Given the description of an element on the screen output the (x, y) to click on. 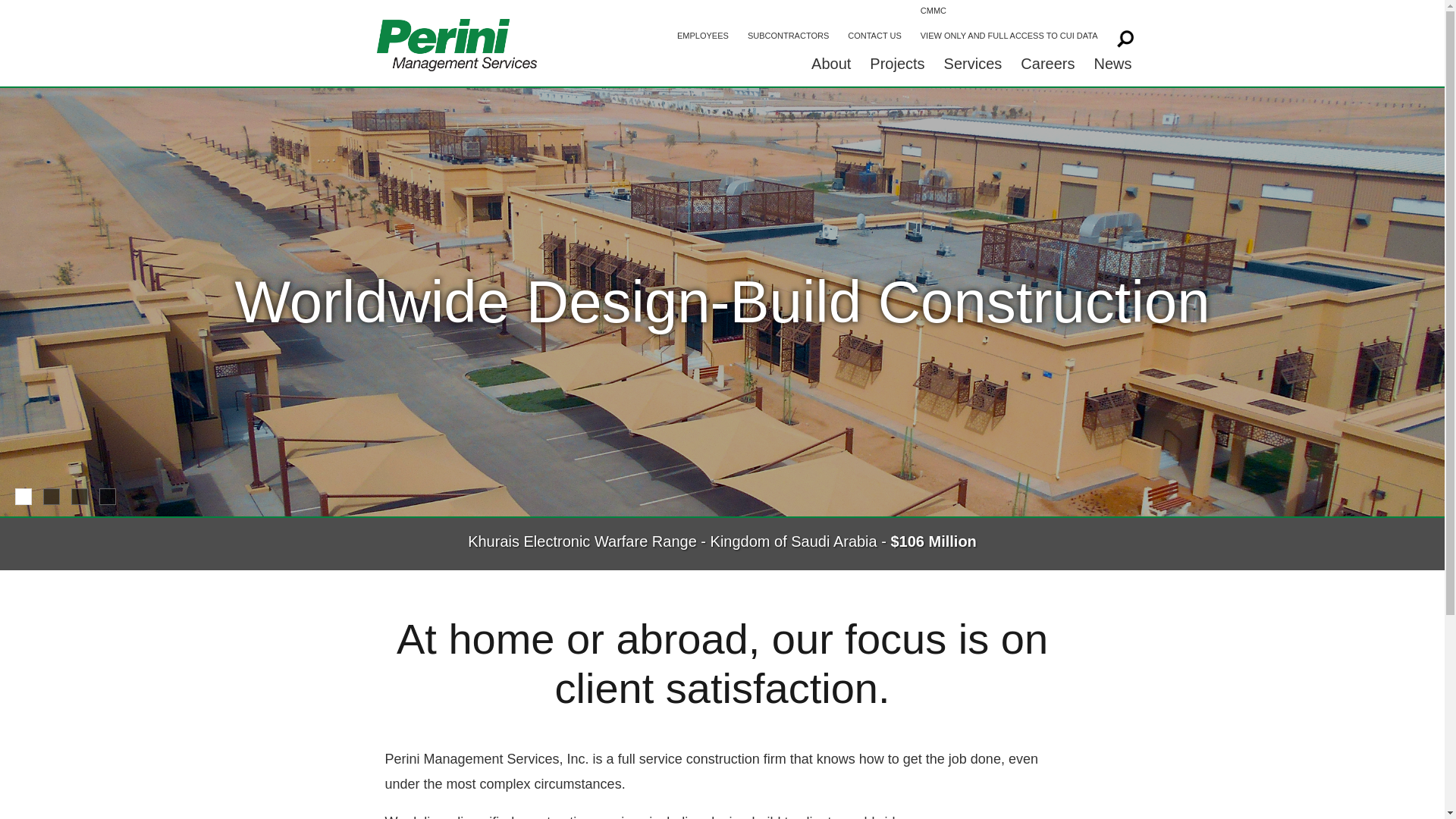
Services (973, 67)
Search This Site (1122, 35)
EMPLOYEES (702, 35)
Search This Site (1122, 35)
CONTACT US (874, 35)
About (831, 67)
Projects (896, 67)
Careers (1047, 67)
CMMC (1008, 11)
VIEW ONLY AND FULL ACCESS TO CUI DATA (1008, 35)
